Given the description of an element on the screen output the (x, y) to click on. 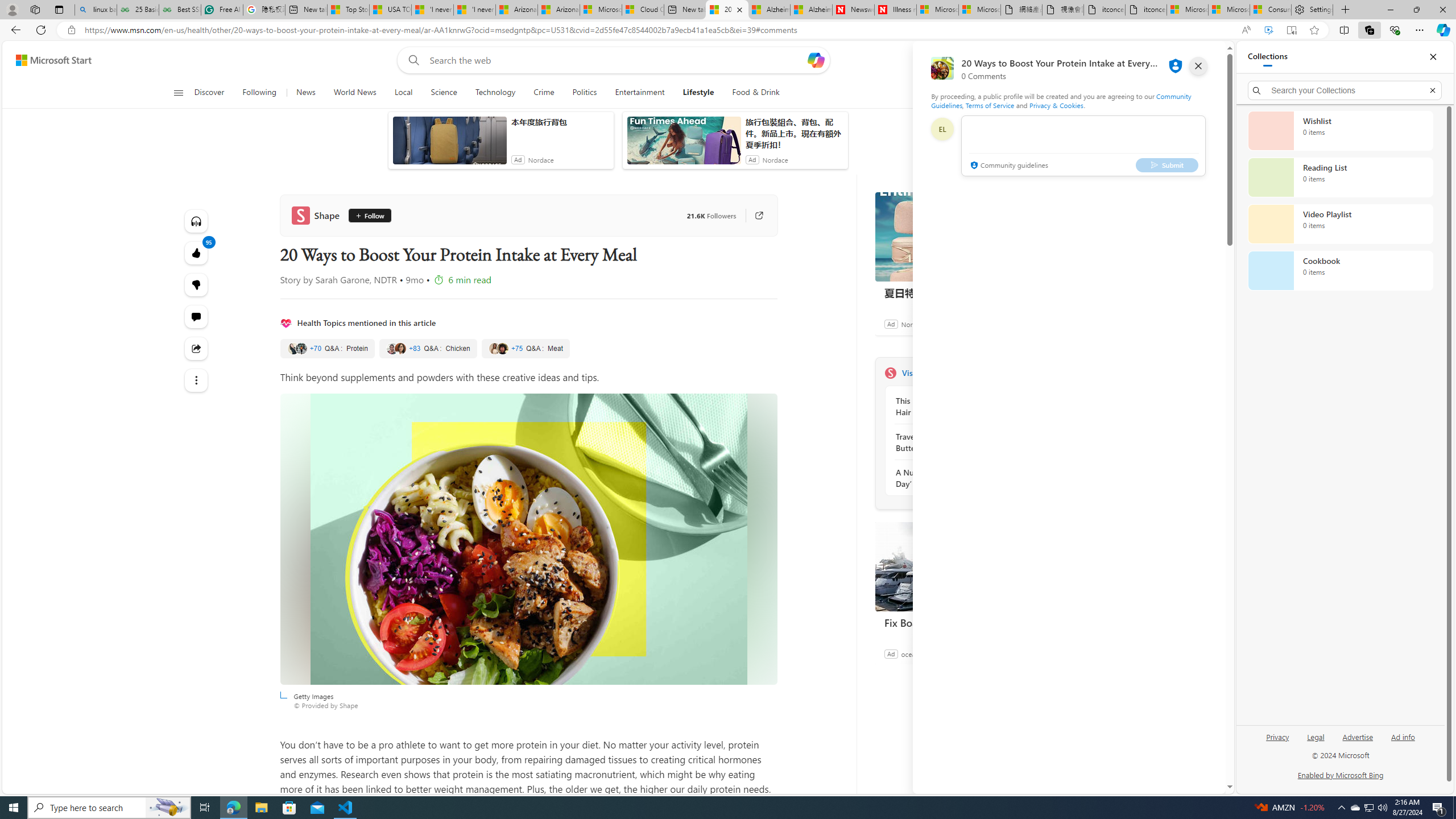
20 Ways to Boost Your Protein Intake at Every Meal (726, 9)
close (1198, 65)
Submit (1166, 164)
Wishlist collection, 0 items (1339, 130)
Video Playlist collection, 0 items (1339, 223)
